Given the description of an element on the screen output the (x, y) to click on. 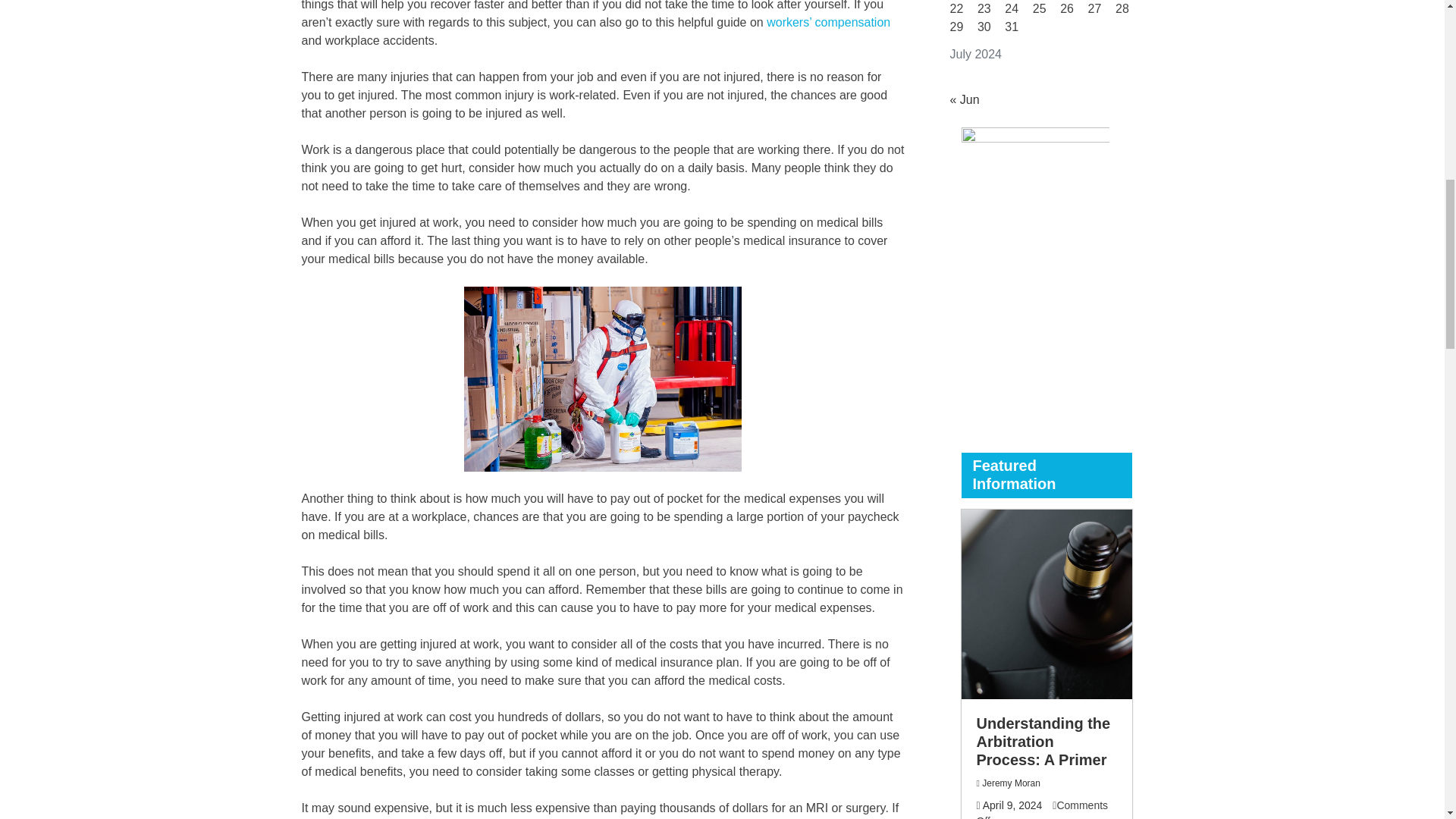
April 9, 2024 (1012, 805)
Jeremy Moran (1011, 783)
Understanding the Arbitration Process: A Primer (1043, 740)
